Given the description of an element on the screen output the (x, y) to click on. 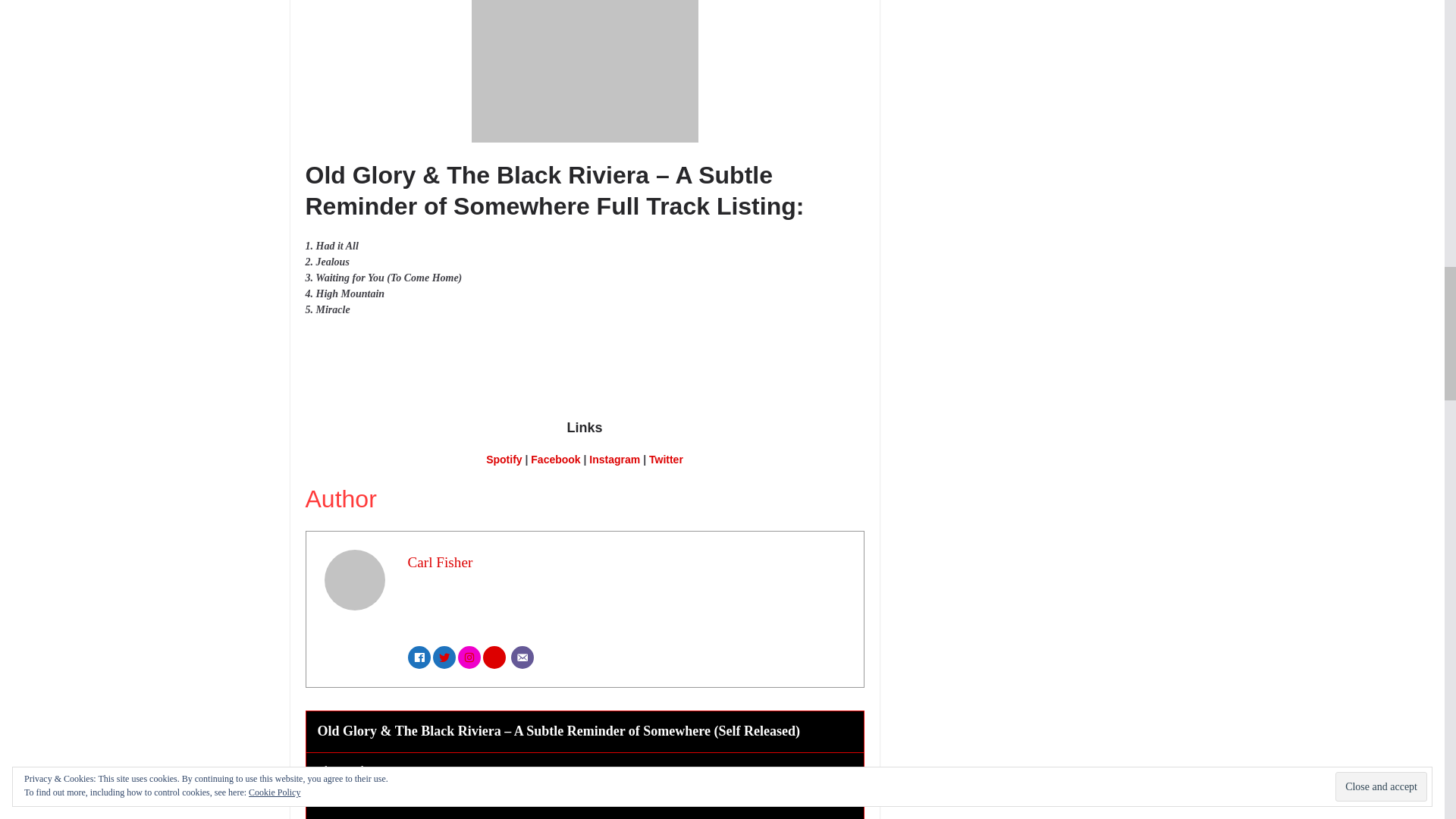
Carl Fisher (440, 562)
